Given the description of an element on the screen output the (x, y) to click on. 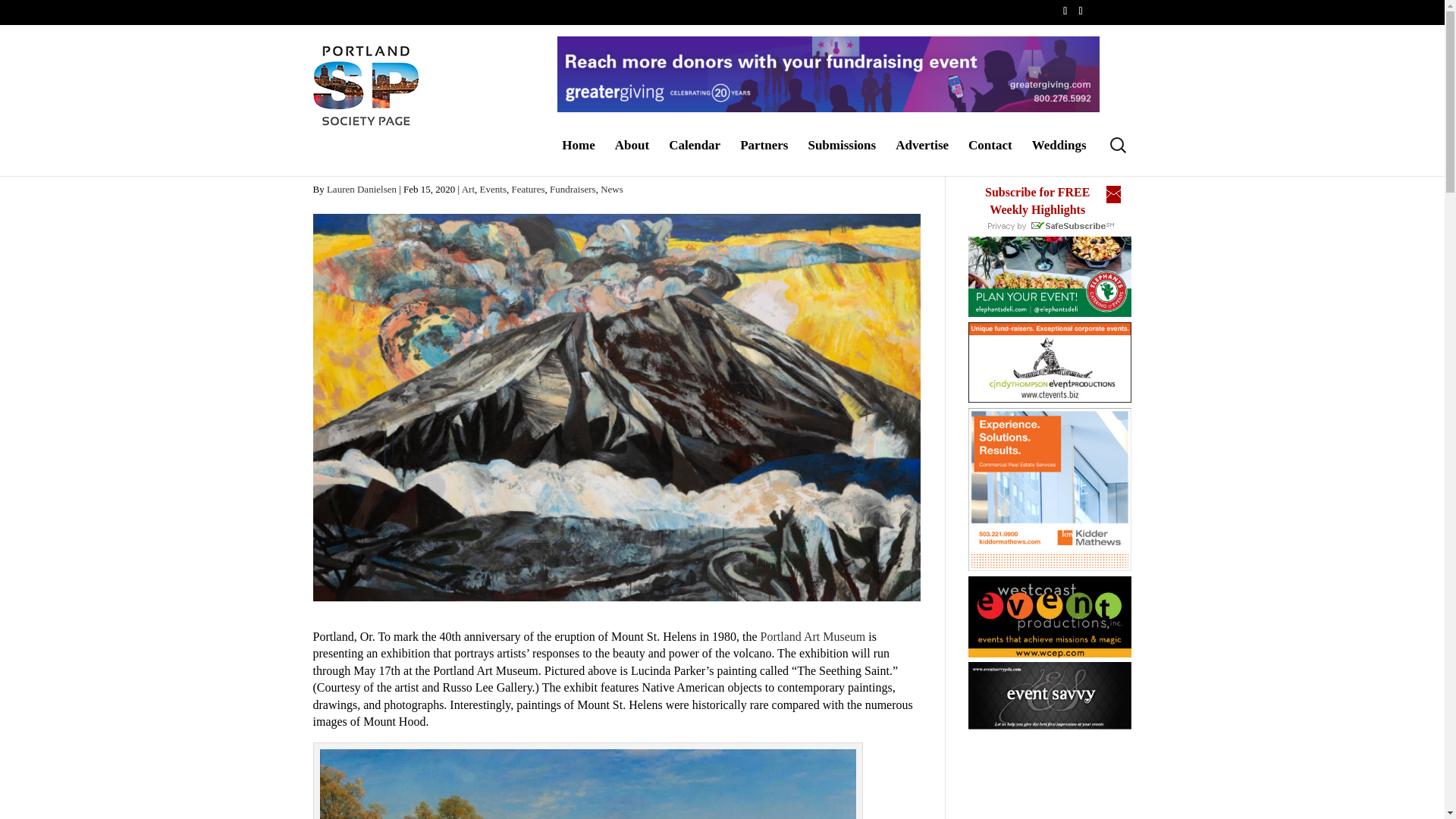
Features (527, 188)
Portland Art Museum (813, 635)
About (631, 157)
Posts by Lauren Danielsen (361, 188)
Calendar (694, 157)
Search (19, 8)
News (611, 188)
Weddings (1059, 157)
Subscribe for FREE Weekly Highlights (1037, 200)
Advertise (922, 157)
